Given the description of an element on the screen output the (x, y) to click on. 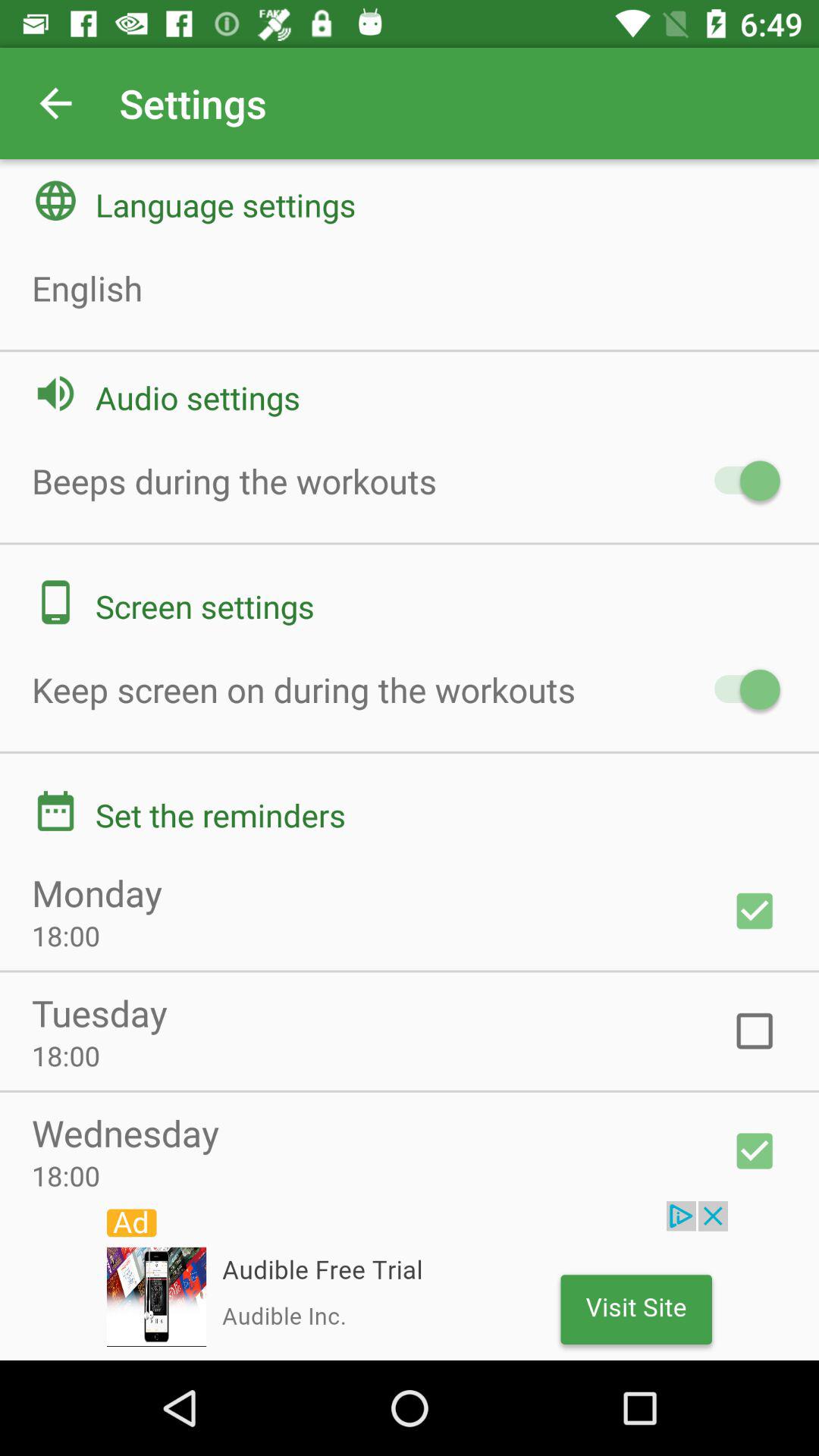
advertisement about audible inc (409, 1280)
